Given the description of an element on the screen output the (x, y) to click on. 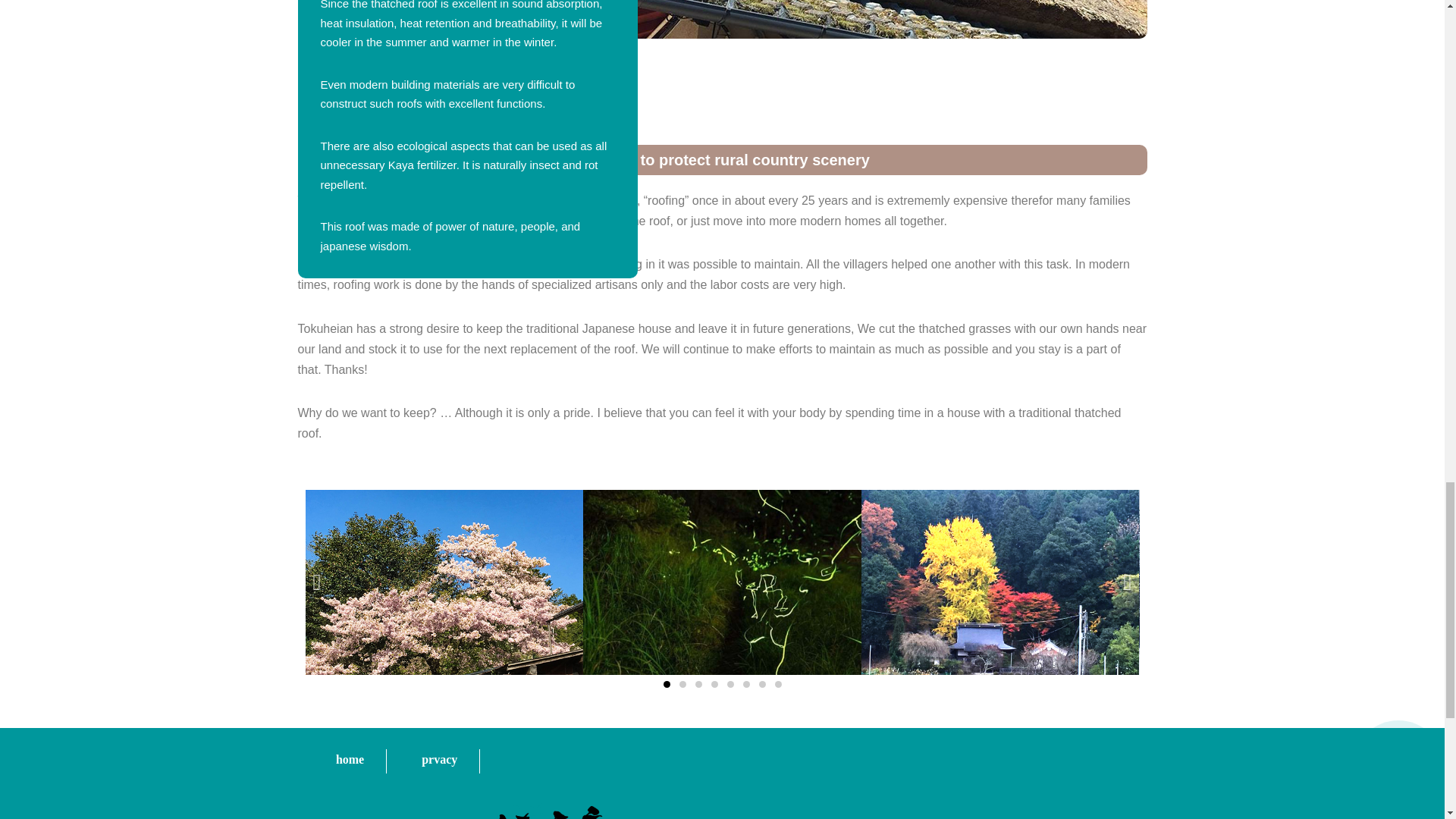
home (349, 761)
prvacy (439, 761)
